Given the description of an element on the screen output the (x, y) to click on. 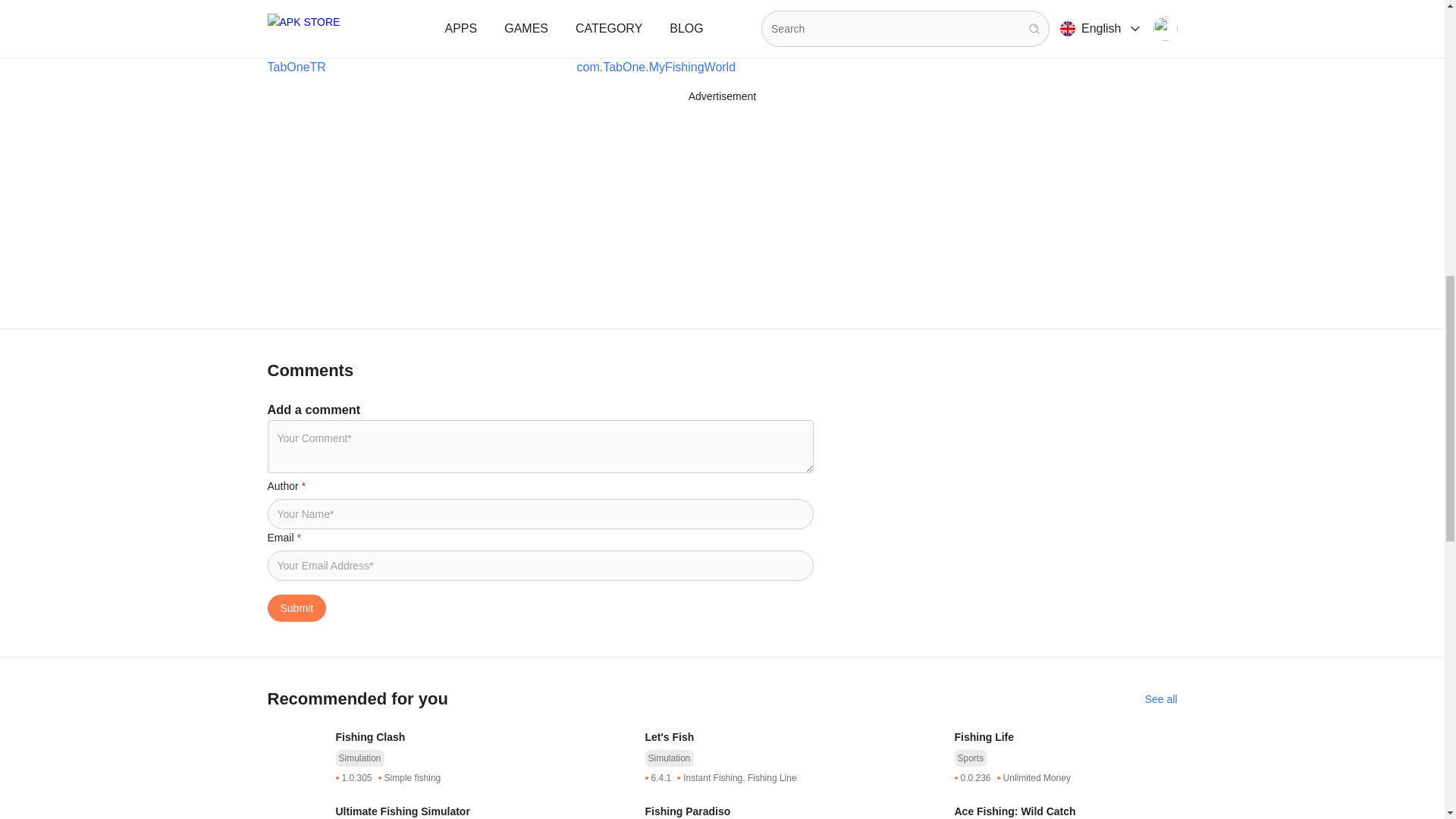
Let's Fish (756, 736)
Sports (970, 758)
Ultimate Fishing Simulator (445, 811)
Fishing Clash (445, 736)
Simulation (669, 758)
Simulation (359, 758)
Submit (296, 607)
TabOneTR (295, 66)
Fishing Life (1064, 736)
Similar app (1160, 699)
